Given the description of an element on the screen output the (x, y) to click on. 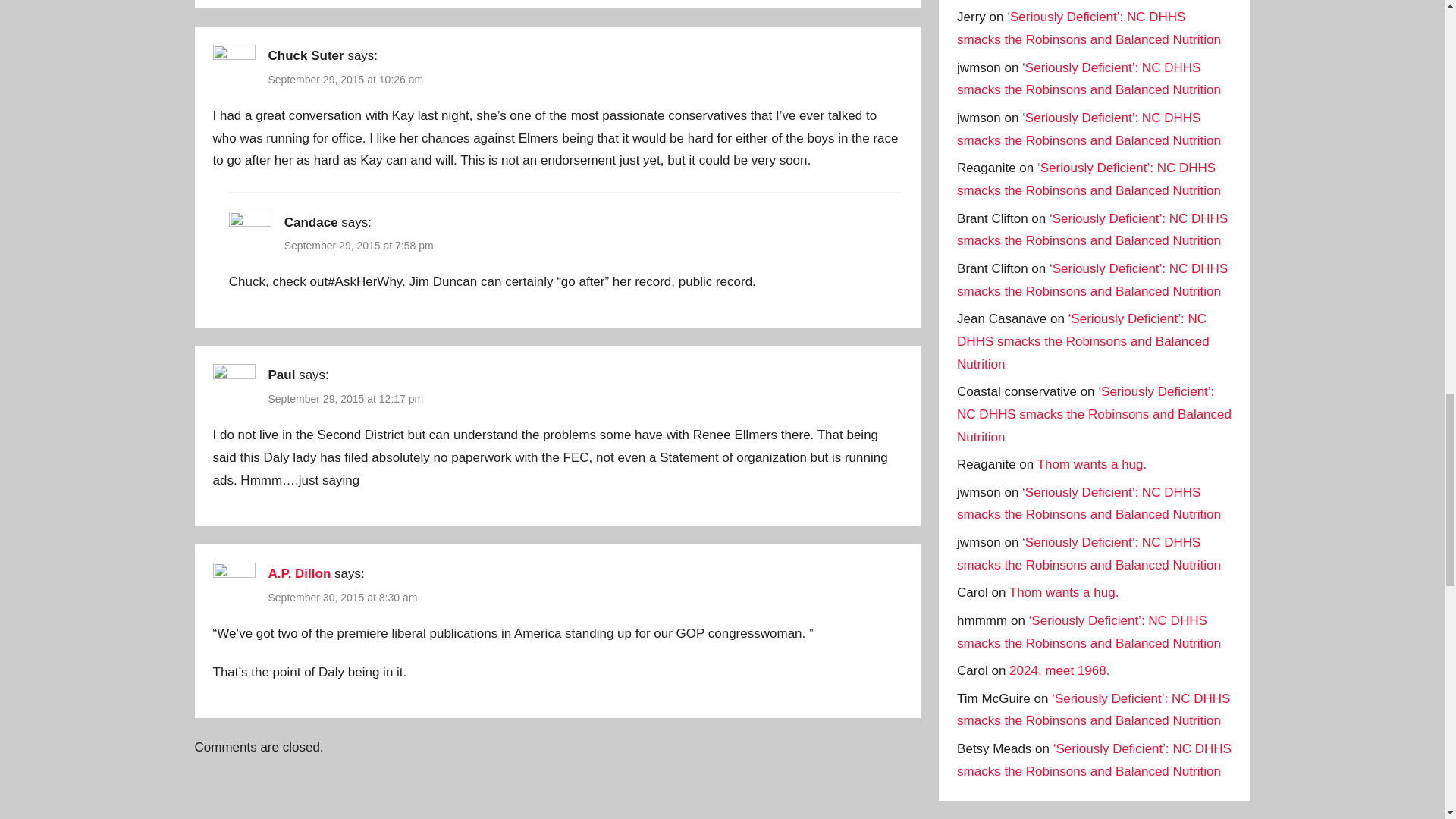
A.P. Dillon (299, 573)
September 29, 2015 at 10:26 am (345, 79)
September 29, 2015 at 7:58 pm (358, 245)
September 29, 2015 at 12:17 pm (345, 398)
September 30, 2015 at 8:30 am (342, 597)
